Given the description of an element on the screen output the (x, y) to click on. 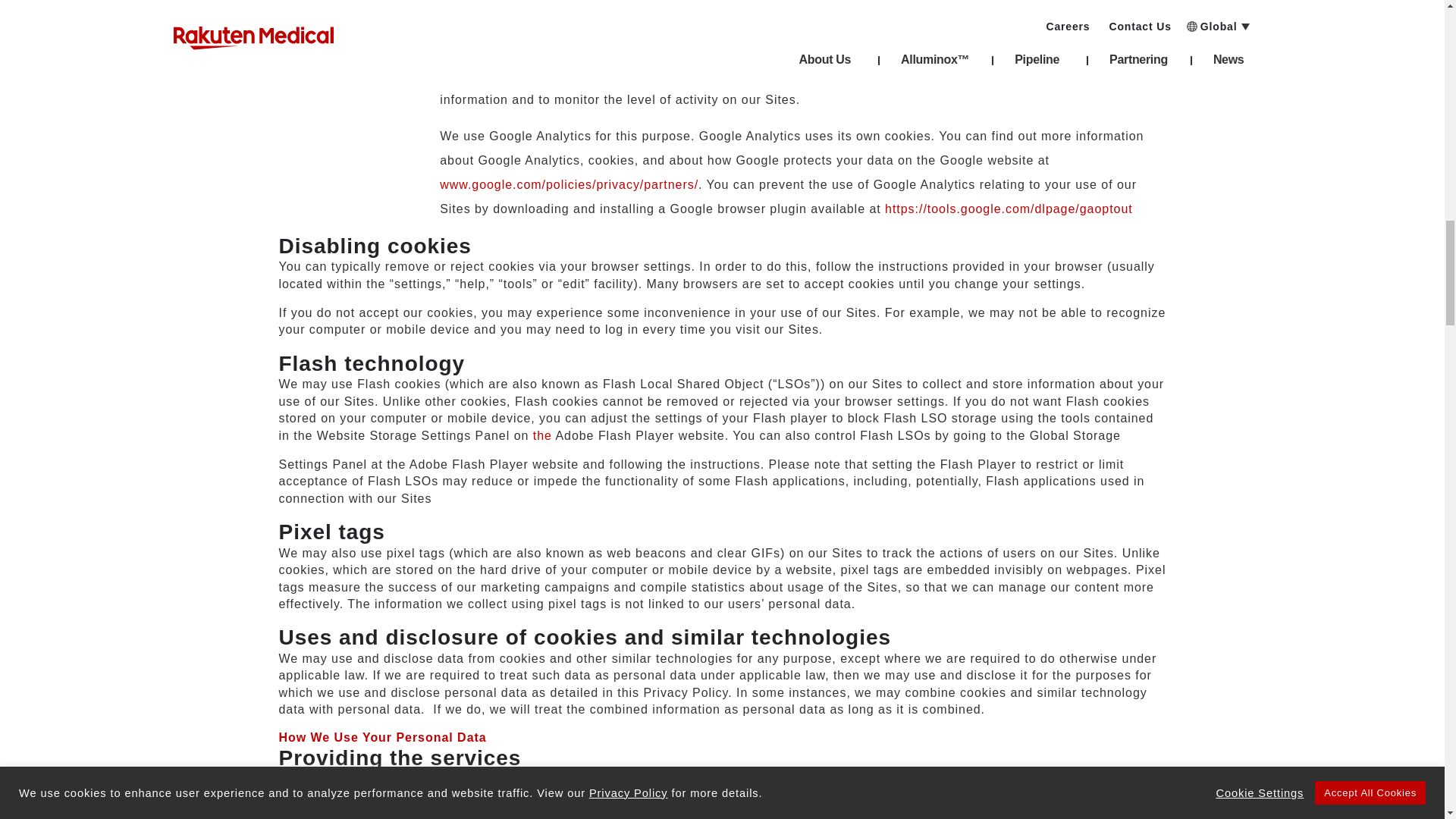
the (541, 435)
